Given the description of an element on the screen output the (x, y) to click on. 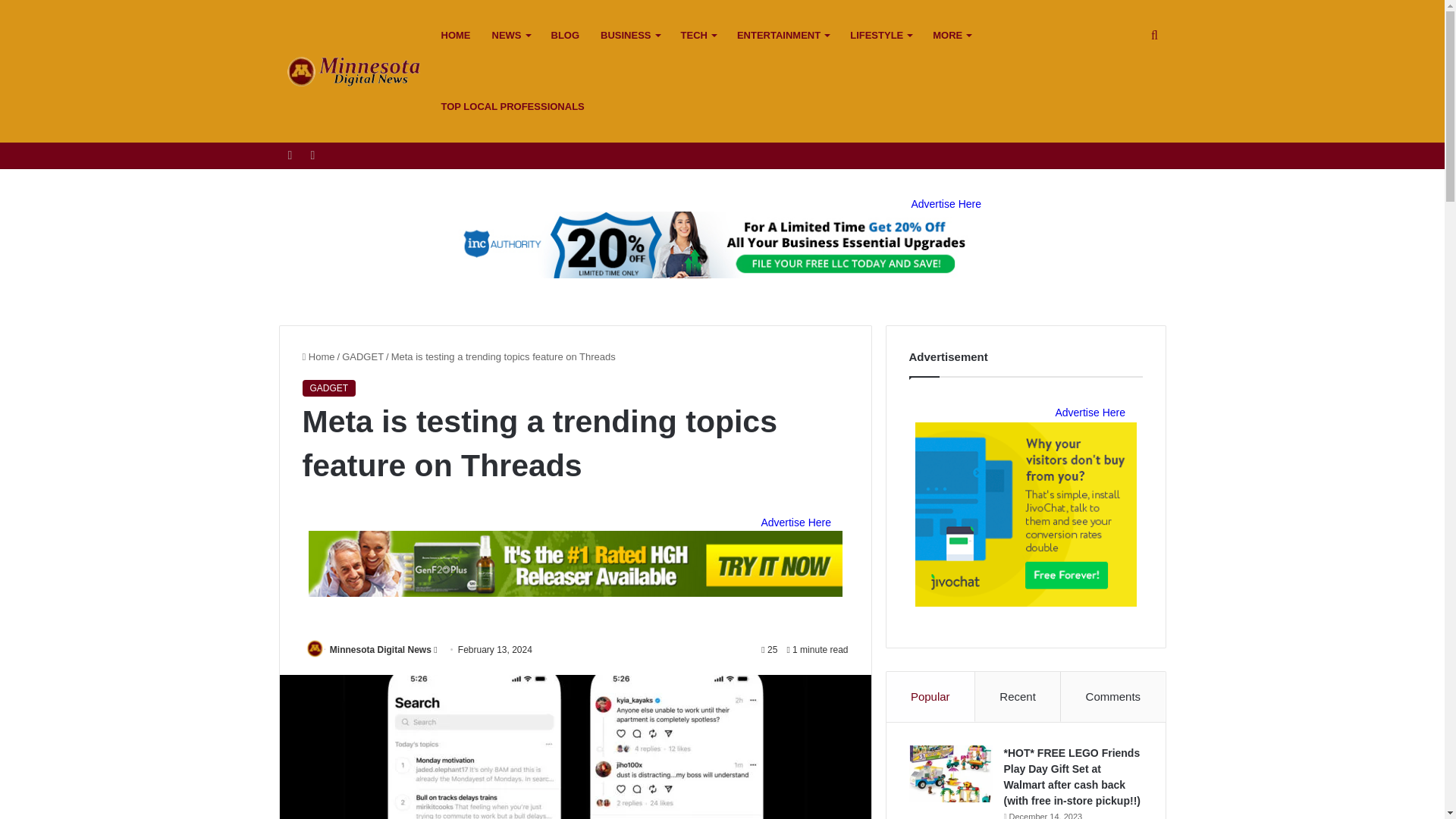
LIFESTYLE (880, 35)
Random Article (312, 154)
ENTERTAINMENT (783, 35)
Minnesota Digital News (354, 70)
NEWS (510, 35)
HOME (455, 35)
BLOG (564, 35)
TECH (697, 35)
BUSINESS (629, 35)
MORE (951, 35)
Minnesota Digital News (380, 649)
